Given the description of an element on the screen output the (x, y) to click on. 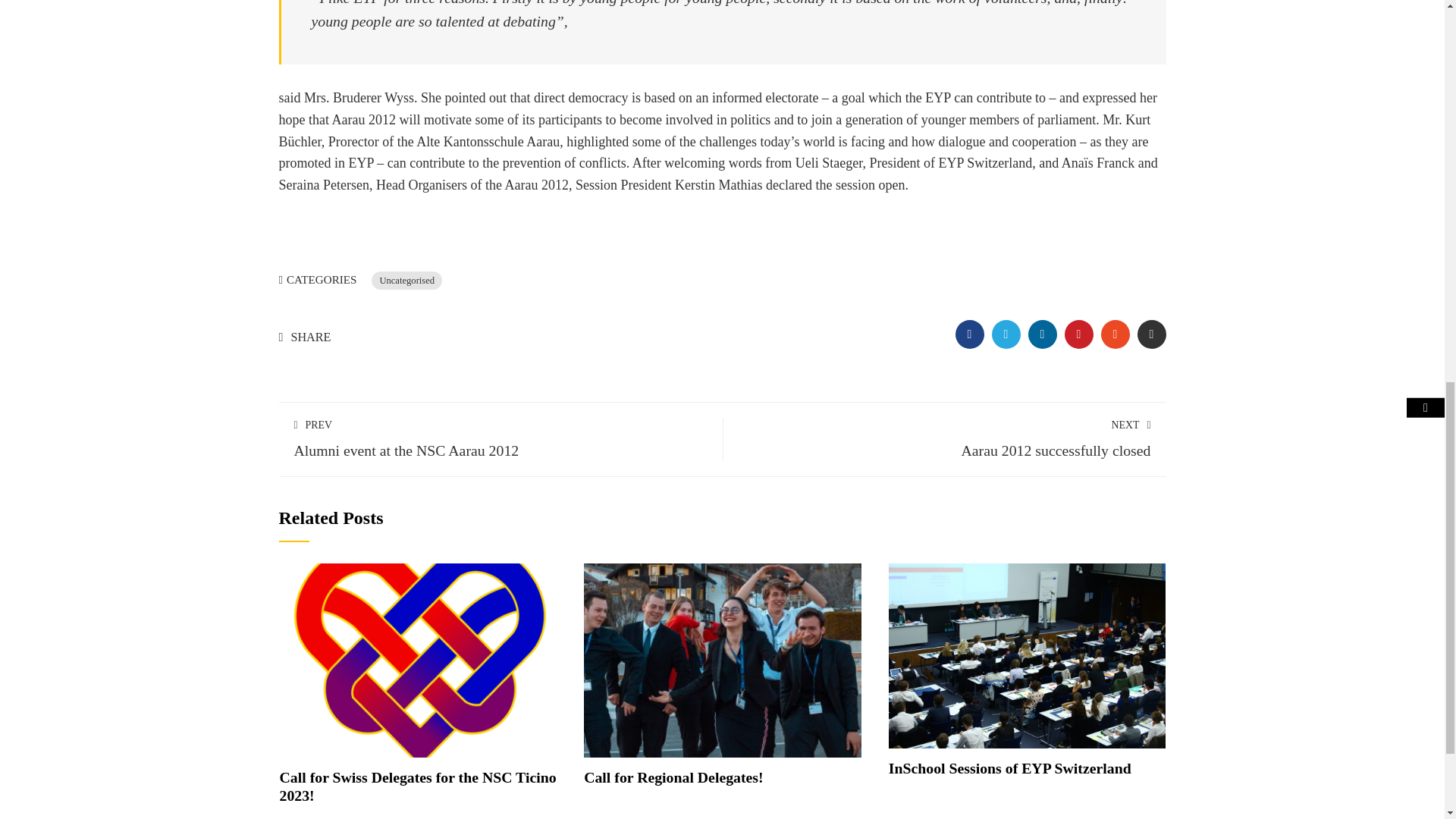
Call for Swiss Delegates for the NSC Ticino 2023! (418, 658)
InSchool Sessions of EYP Switzerland (1009, 768)
Call for Regional Delegates! (722, 658)
InSchool Sessions of EYP Switzerland (1027, 654)
Call for Regional Delegates! (672, 777)
Call for Swiss Delegates for the NSC Ticino 2023! (417, 786)
